Given the description of an element on the screen output the (x, y) to click on. 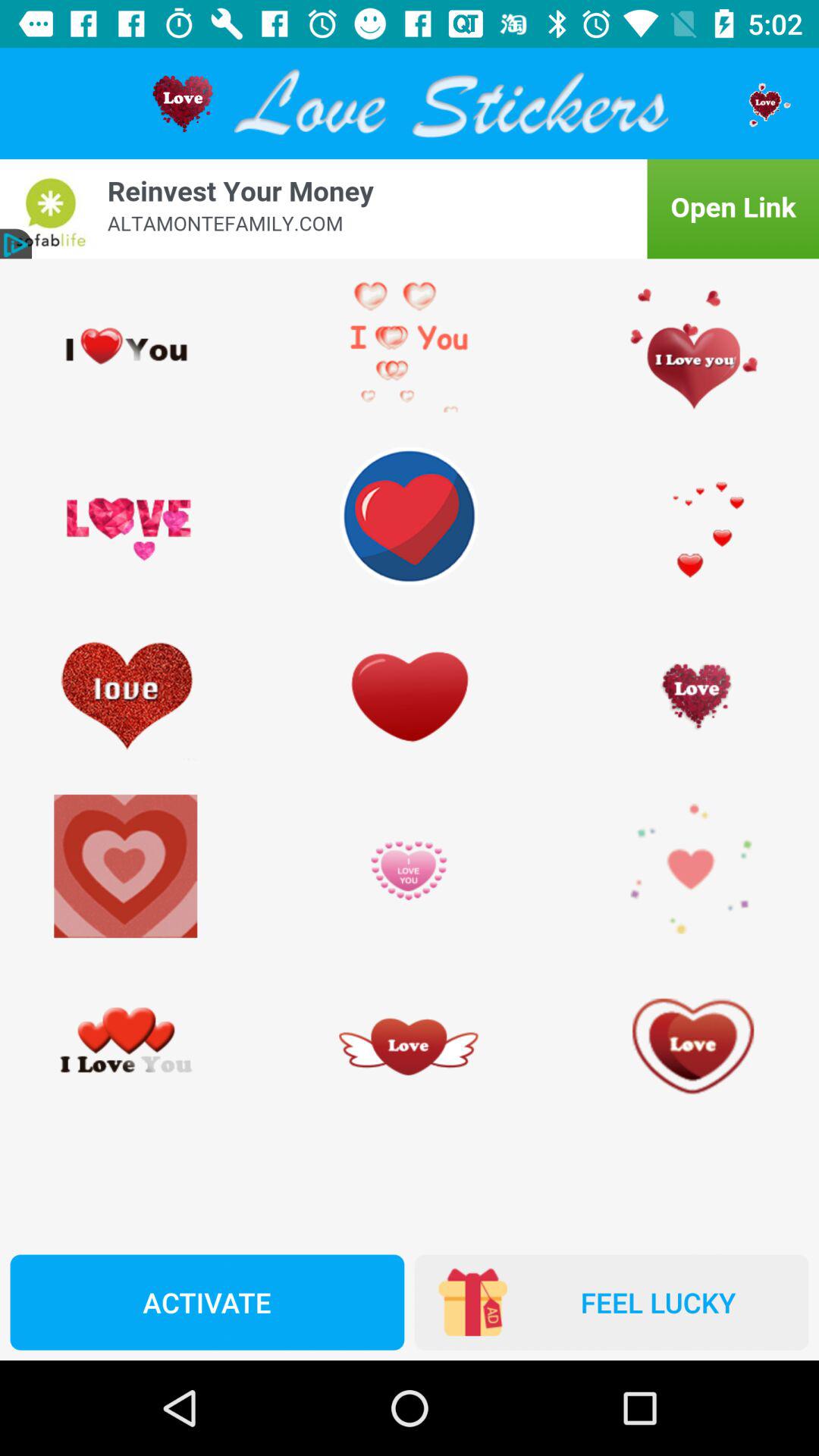
click on third image from second row (691, 516)
